Given the description of an element on the screen output the (x, y) to click on. 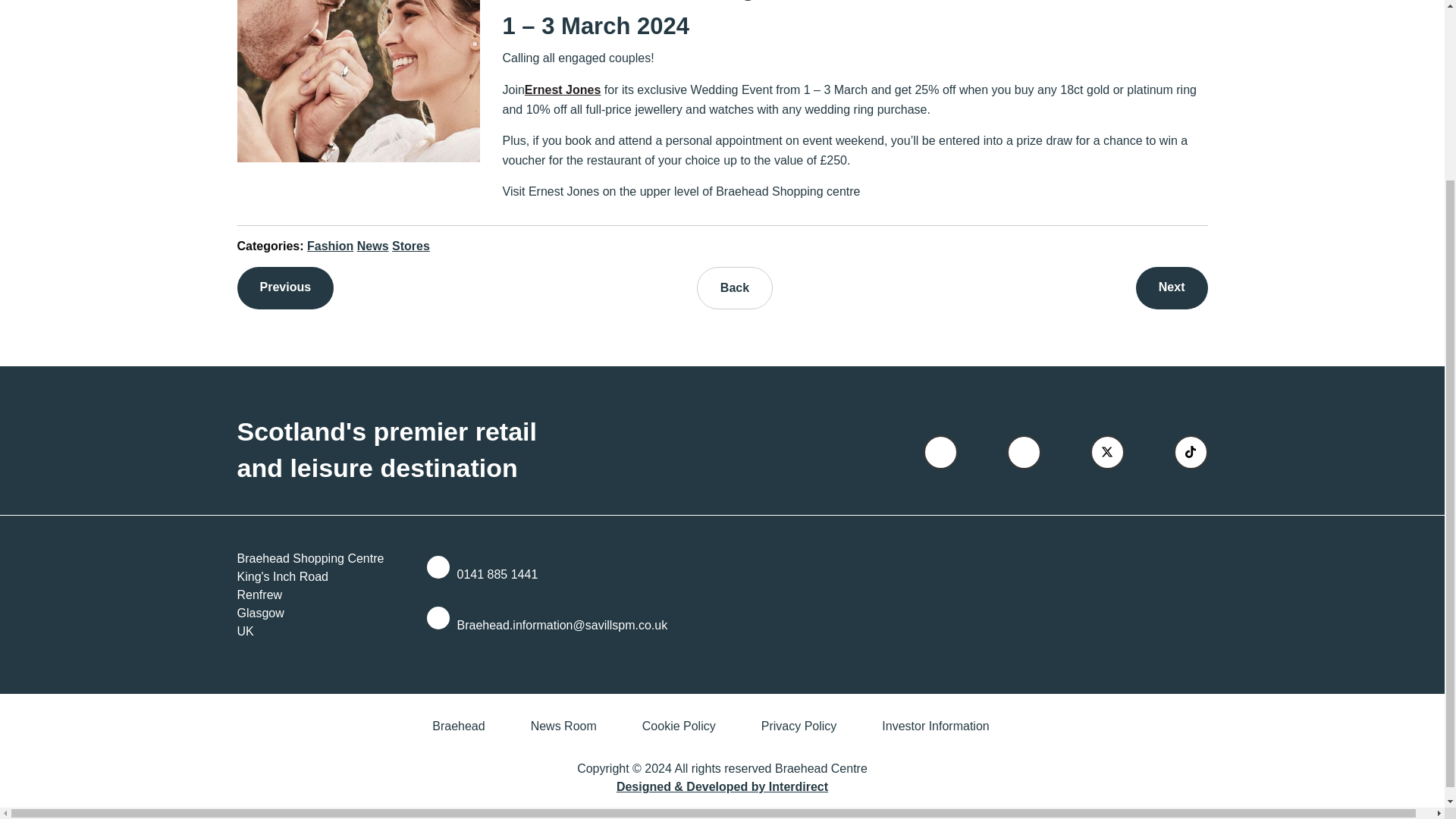
Twitter (1107, 451)
Facebook (940, 451)
Tiktok (1190, 451)
Instagram (1024, 451)
